Given the description of an element on the screen output the (x, y) to click on. 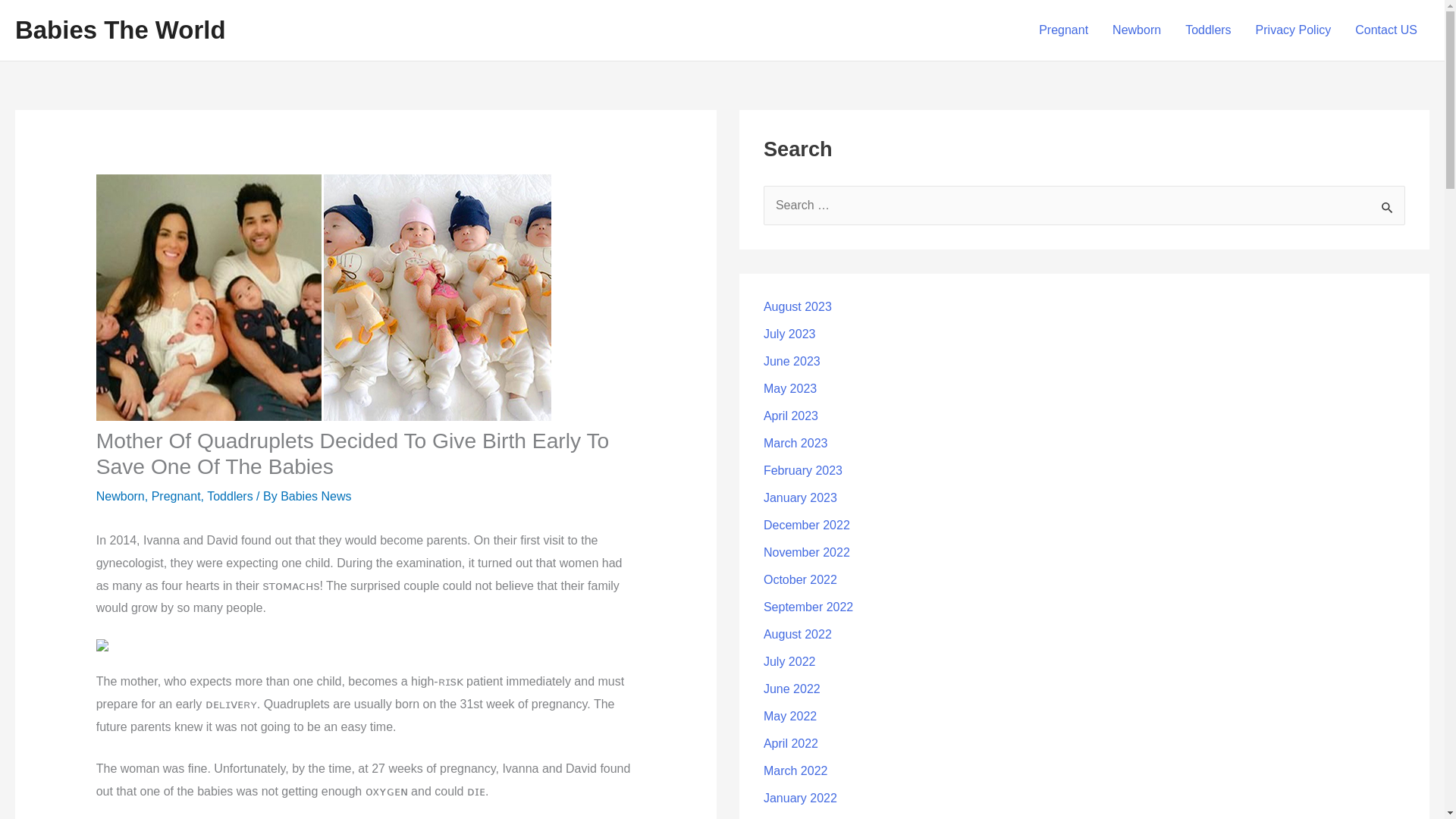
Toddlers (228, 495)
Contact US (1385, 30)
Newborn (1136, 30)
Privacy Policy (1293, 30)
View all posts by Babies News (315, 495)
Babies News (315, 495)
Toddlers (1208, 30)
Babies The World (119, 29)
Pregnant (175, 495)
Newborn (120, 495)
Pregnant (1063, 30)
